Given the description of an element on the screen output the (x, y) to click on. 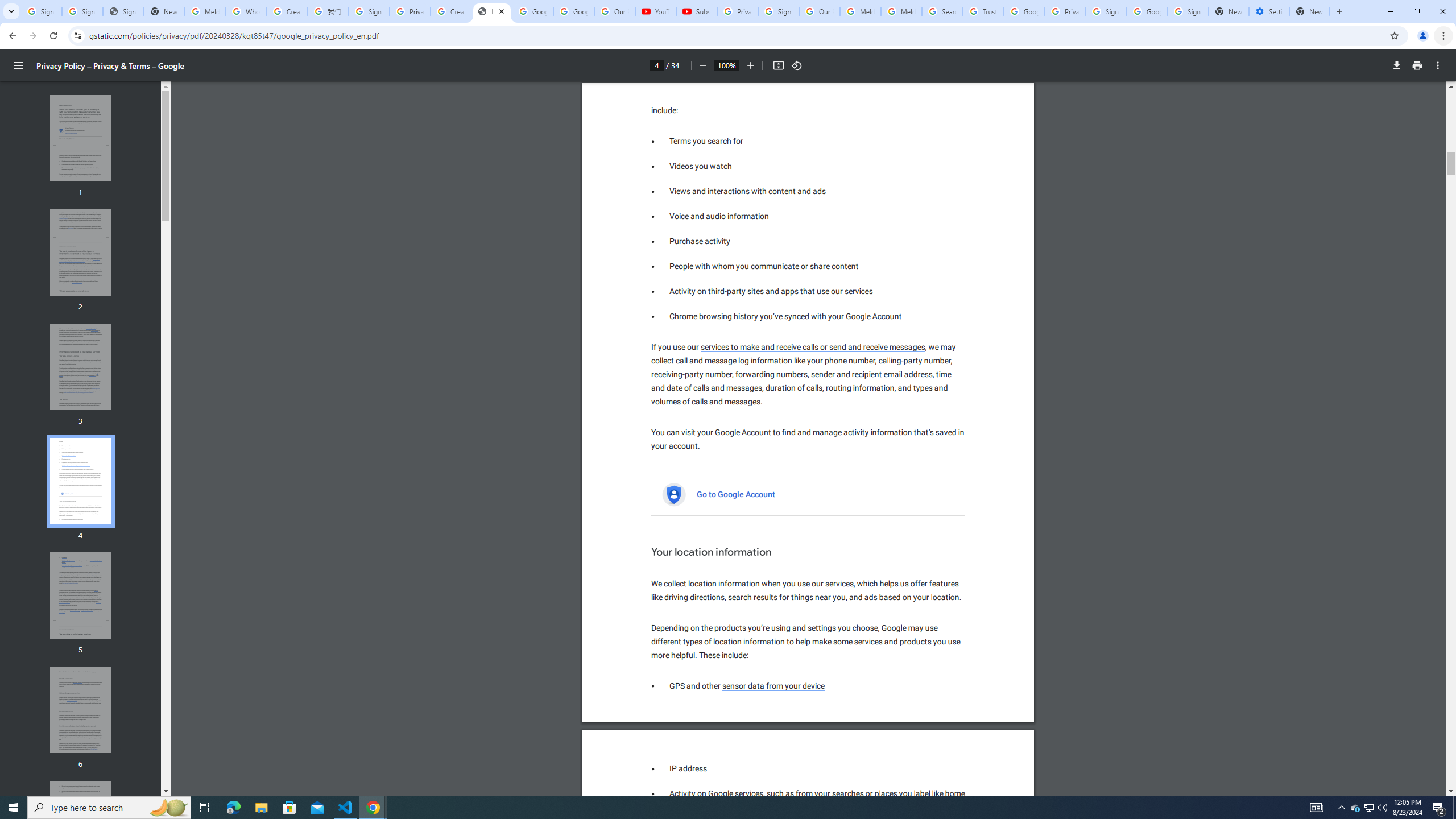
Search tabs (10, 11)
Thumbnail for page 5 (80, 595)
Settings - Addresses and more (1268, 11)
Rotate counterclockwise (796, 65)
Search our Doodle Library Collection - Google Doodles (942, 11)
Sign in - Google Accounts (1187, 11)
Zoom in (750, 65)
Thumbnail for page 2 (80, 252)
Google Ads - Sign in (716, 793)
Sign in - Google Accounts (1023, 11)
